Given the description of an element on the screen output the (x, y) to click on. 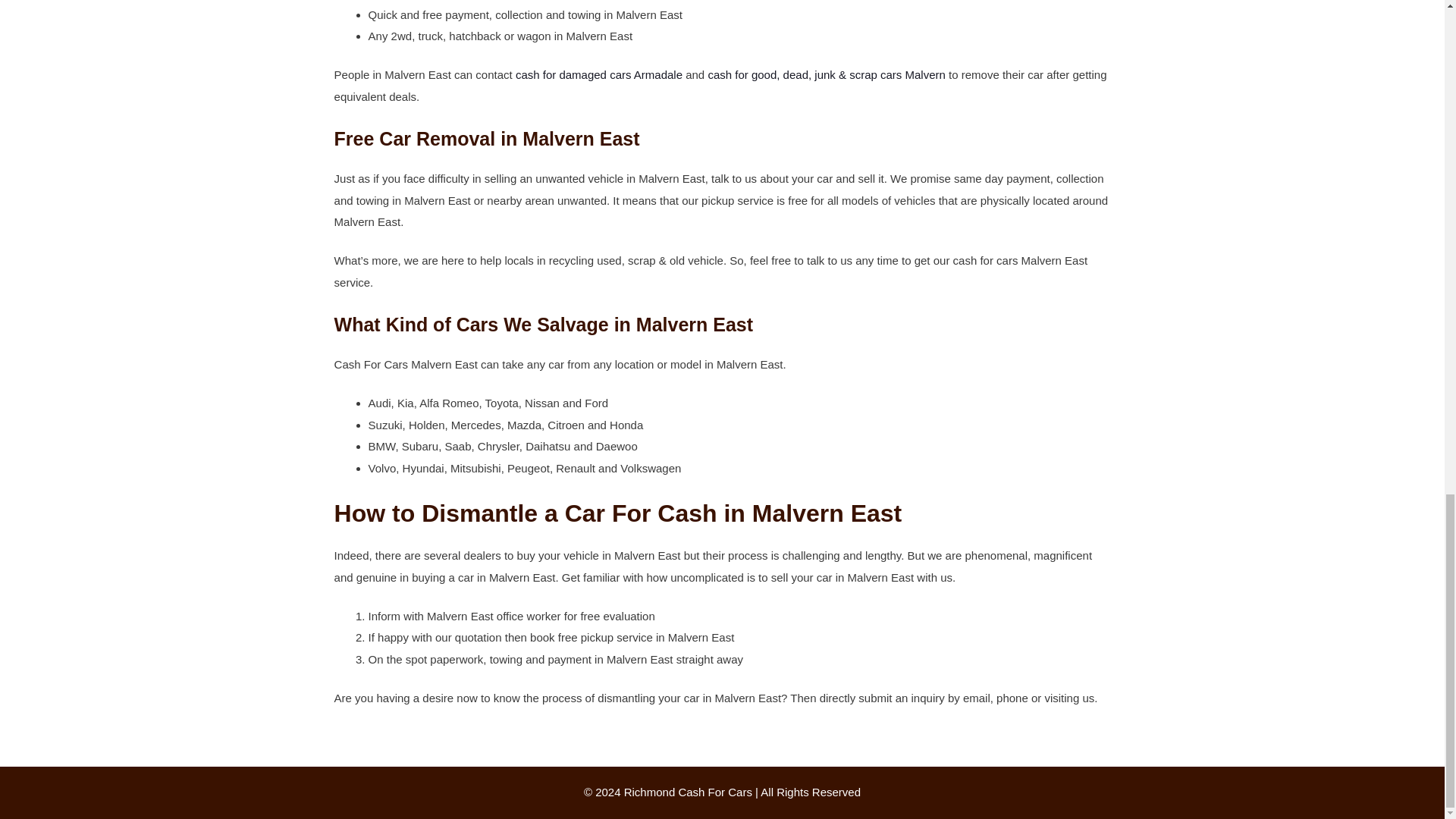
cash for damaged cars Armadale (598, 74)
